Given the description of an element on the screen output the (x, y) to click on. 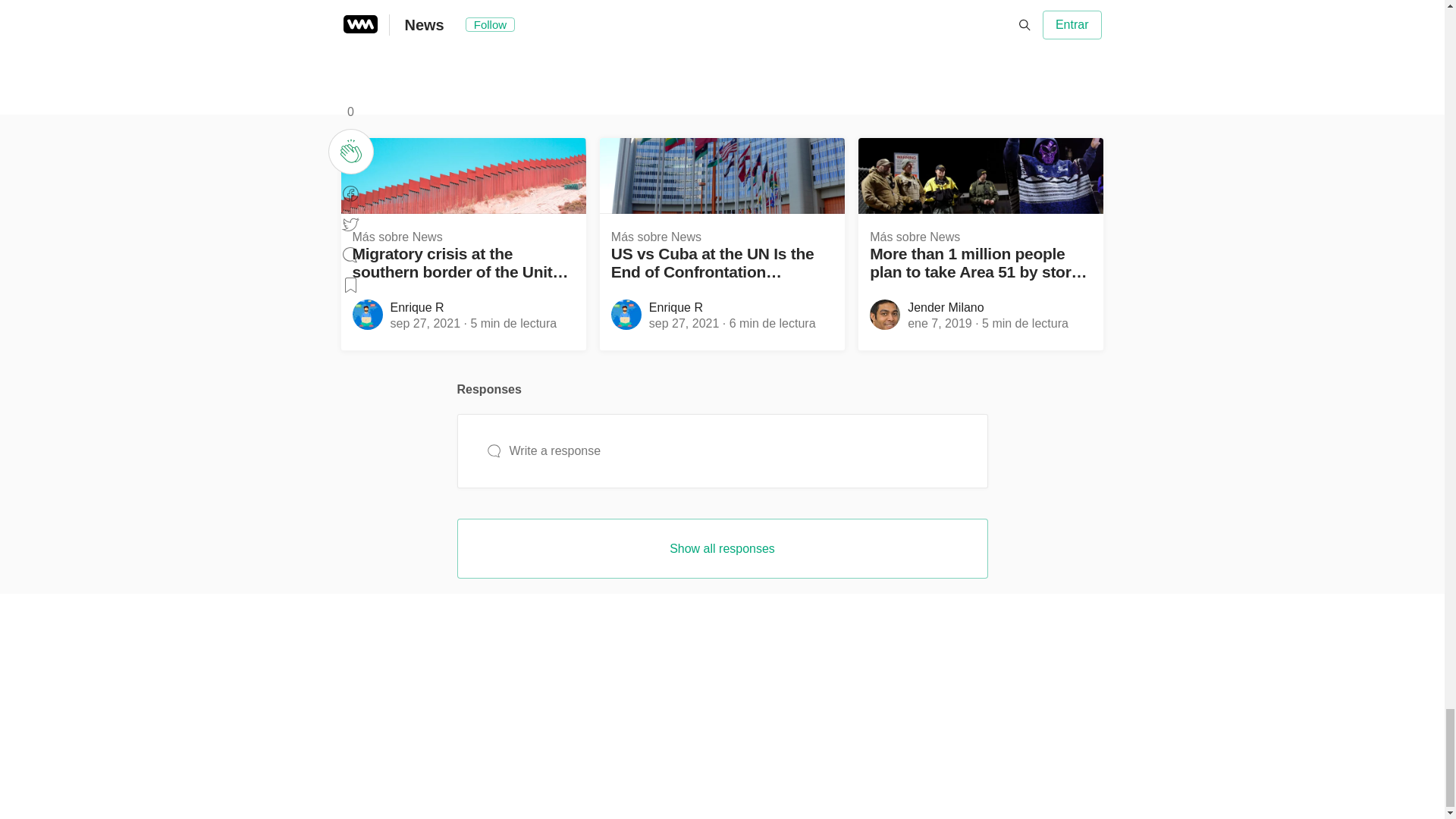
Enrique R (417, 307)
sep 27, 2021 (425, 323)
US vs Cuba at the UN Is the End of Confrontation Needing? (721, 263)
sep 27, 2021 (684, 323)
Enrique R (676, 307)
